Given the description of an element on the screen output the (x, y) to click on. 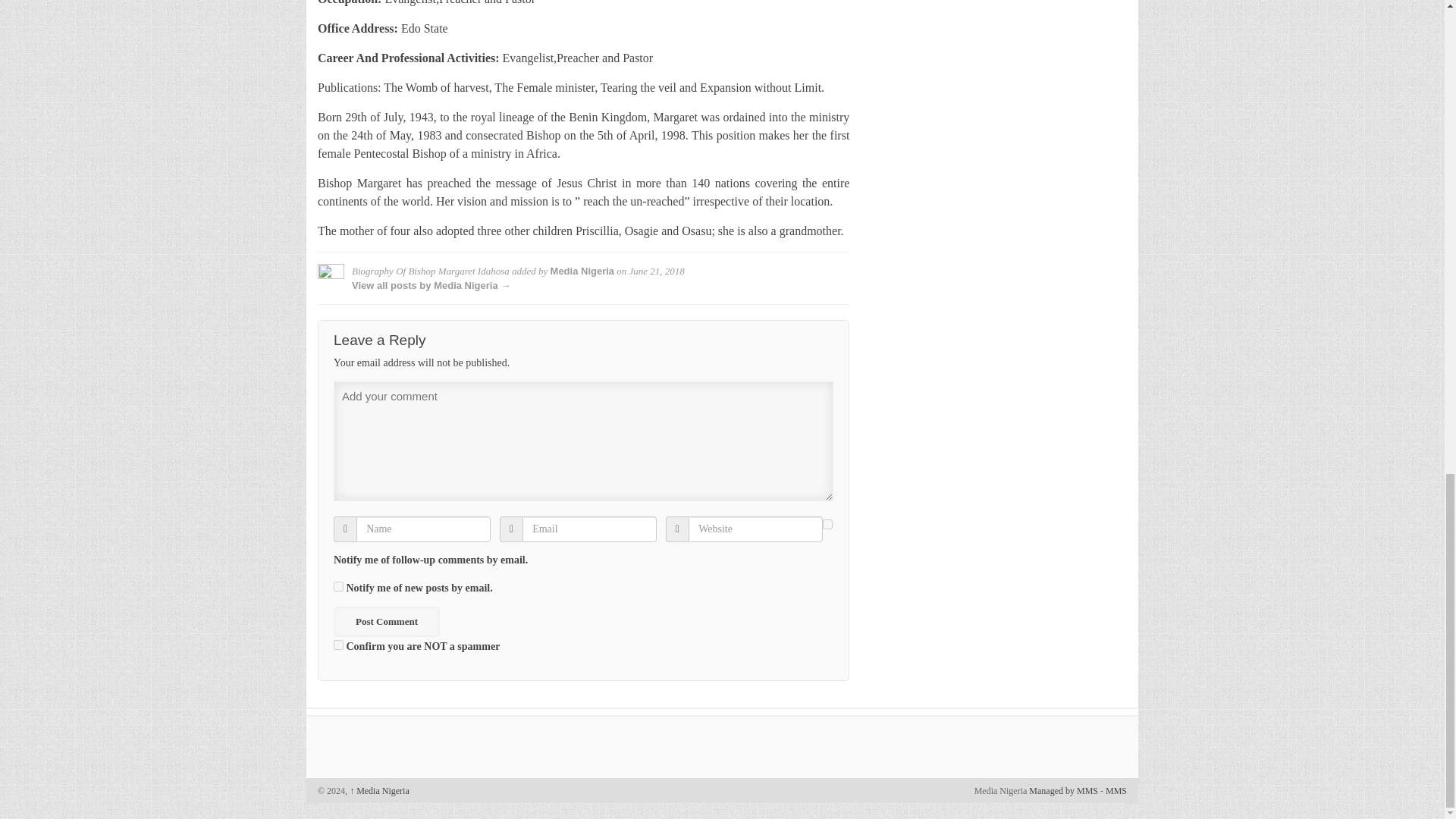
Managed by MMS (1063, 790)
on (338, 644)
Media Nigeria (379, 790)
subscribe (338, 586)
Post Comment (386, 621)
Semantic Personal Publishing Platform (1063, 790)
Post Comment (386, 621)
subscribe (827, 524)
MMS (1115, 790)
Media Nigeria (582, 270)
